Given the description of an element on the screen output the (x, y) to click on. 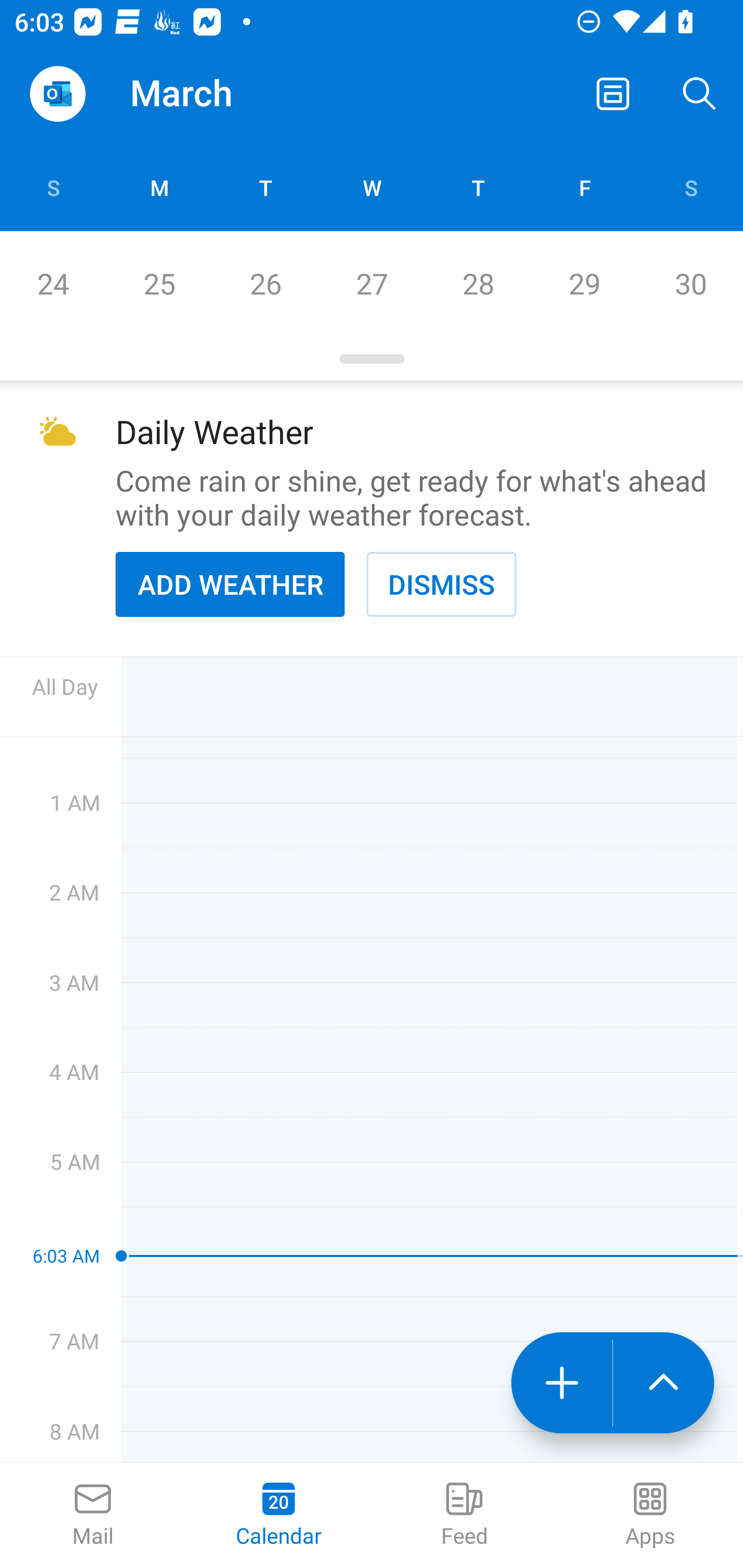
March March 2024, day picker (209, 93)
Switch away from Day view (612, 93)
Search, ,  (699, 93)
Open Navigation Drawer (57, 94)
24 Sunday, March 24 (53, 284)
25 Monday, March 25 (159, 284)
26 Tuesday, March 26 (265, 284)
27 Wednesday, March 27 (371, 284)
28 Thursday, March 28 (477, 284)
29 Friday, March 29 (584, 284)
30 Saturday, March 30 (690, 284)
Day picker (371, 359)
ADD WEATHER (230, 583)
DISMISS (440, 583)
New event (561, 1382)
launch the extended action menu (663, 1382)
Mail (92, 1515)
Feed (464, 1515)
Apps (650, 1515)
